Given the description of an element on the screen output the (x, y) to click on. 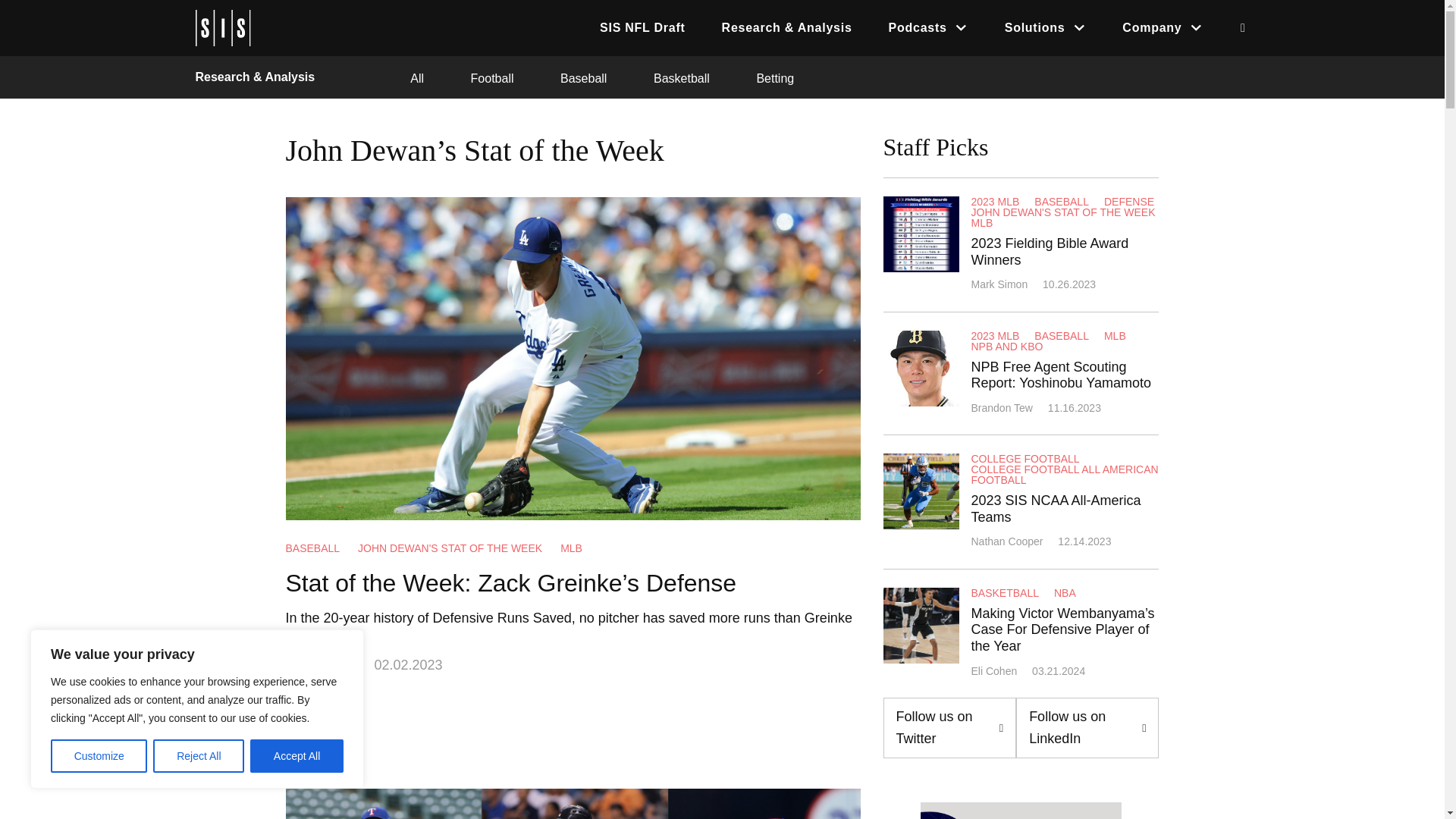
Company (1162, 27)
Solutions (1046, 27)
Customize (98, 756)
SIS NFL Draft (641, 27)
Accept All (296, 756)
Podcasts (928, 27)
Reject All (198, 756)
Open Search (1242, 28)
